Given the description of an element on the screen output the (x, y) to click on. 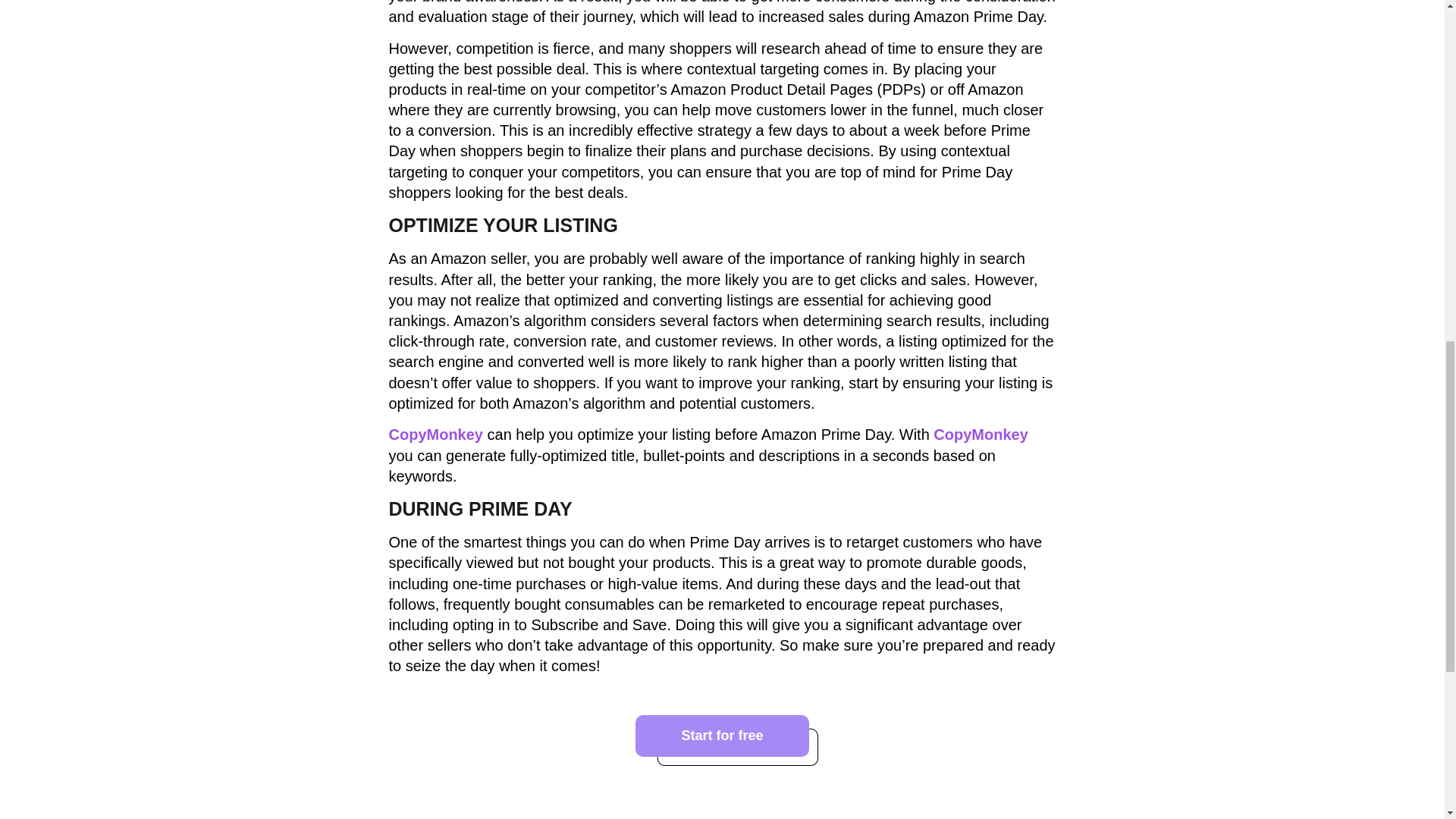
Start for free (721, 735)
CopyMonkey (980, 434)
CopyMonkey (434, 434)
